Given the description of an element on the screen output the (x, y) to click on. 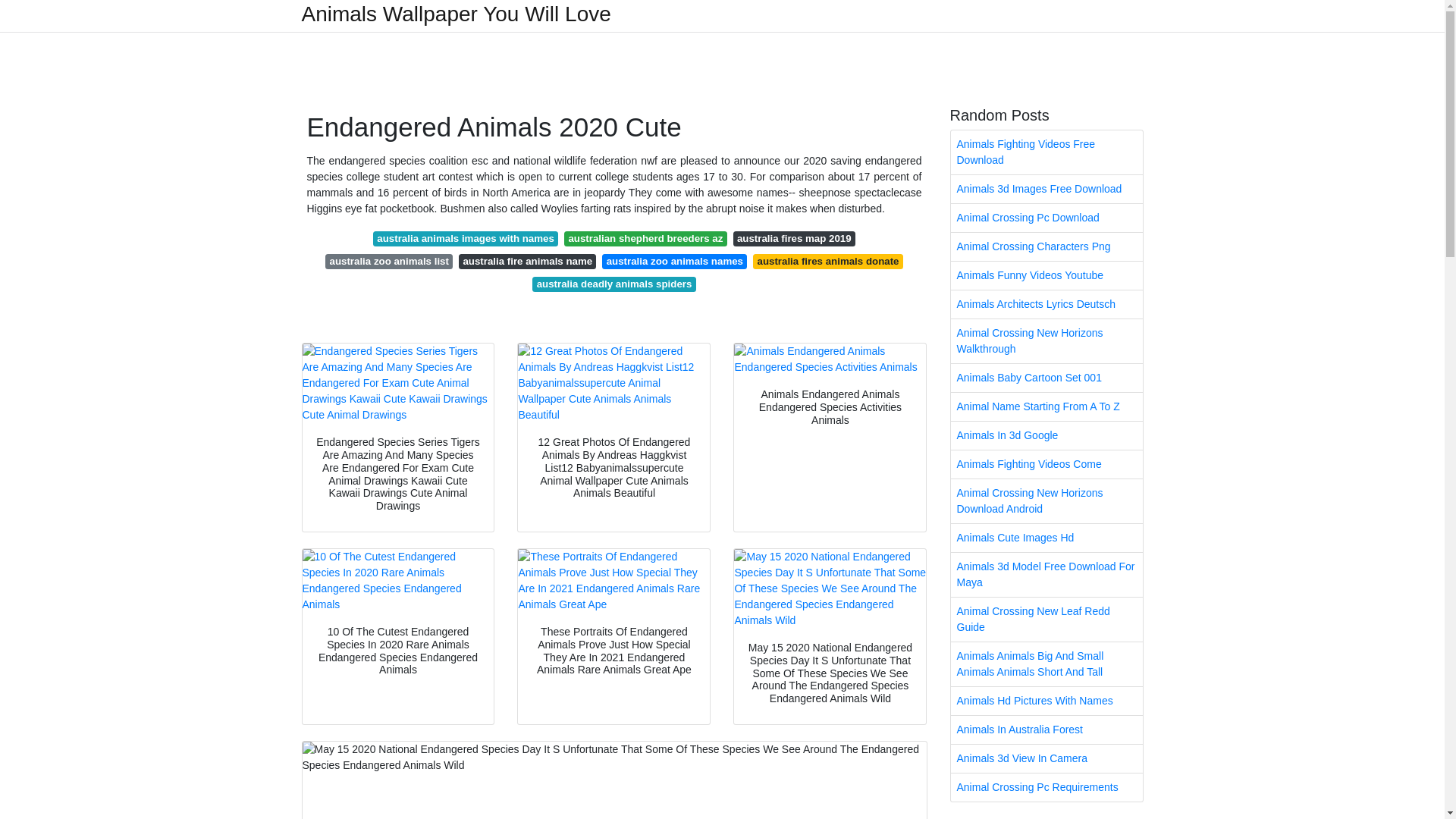
Animals Architects Lyrics Deutsch (1046, 304)
Animal Crossing Characters Png (1046, 246)
Animals Baby Cartoon Set 001 (1046, 377)
Animal Name Starting From A To Z (1046, 406)
Animals Wallpaper You Will Love (456, 13)
australia fires map 2019 (794, 238)
Animals In 3d Google (1046, 435)
Animal Crossing Pc Download (1046, 217)
Animals Fighting Videos Free Download (1046, 152)
australia animals images with names (464, 238)
